Given the description of an element on the screen output the (x, y) to click on. 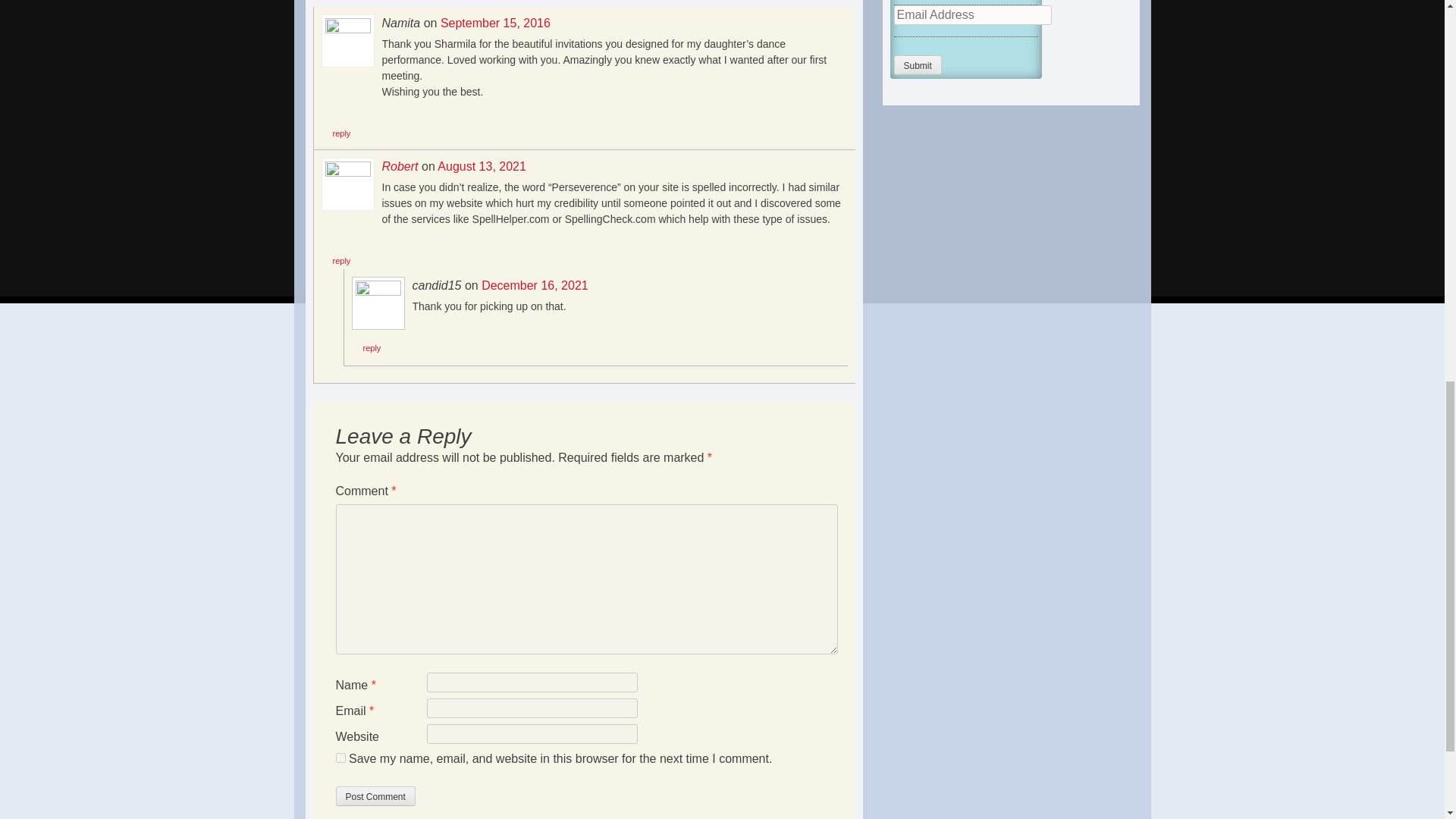
Submit (916, 65)
Submit (916, 65)
reply (341, 133)
August 13, 2021 (481, 165)
yes (339, 757)
Post Comment (374, 795)
Post Comment (374, 795)
reply (371, 347)
December 16, 2021 (534, 285)
reply (341, 260)
